Given the description of an element on the screen output the (x, y) to click on. 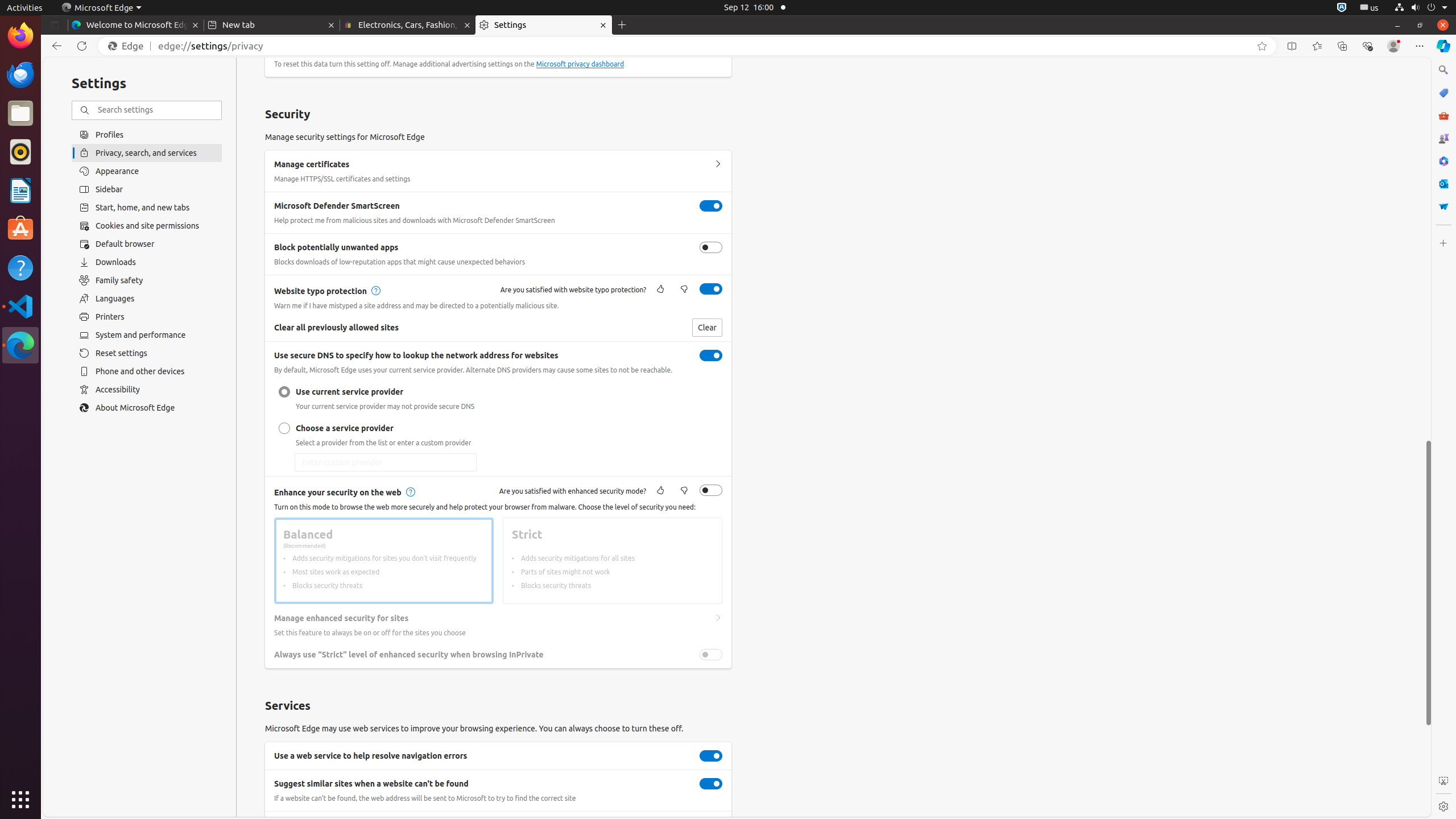
Ubuntu Software Element type: push-button (20, 229)
Microsoft Edge Element type: menu (101, 7)
Default browser Element type: tree-item (146, 243)
Browser essentials Element type: push-button (1366, 45)
Drop Element type: push-button (1443, 206)
